Given the description of an element on the screen output the (x, y) to click on. 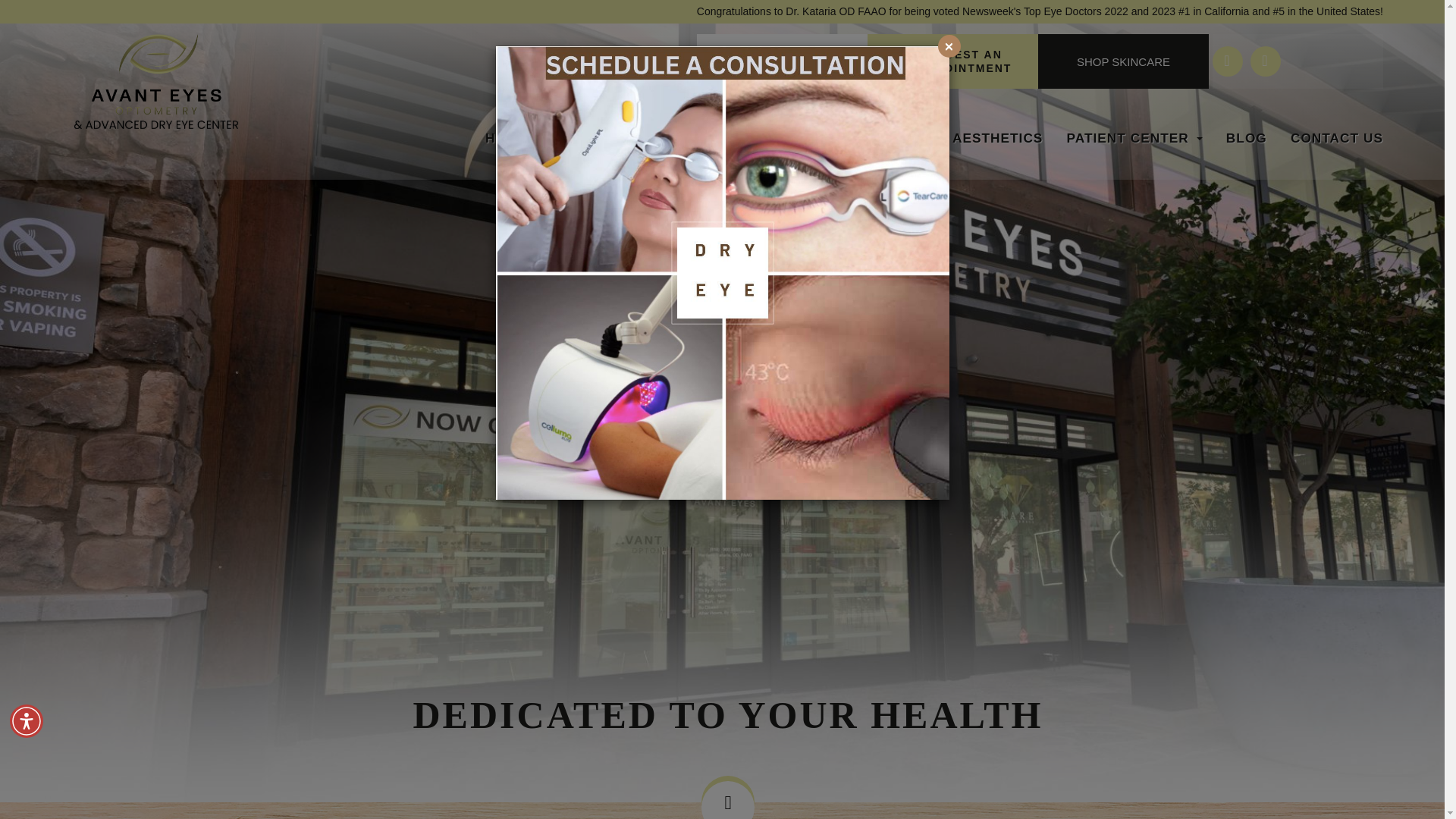
Accessibility Menu (26, 720)
